Given the description of an element on the screen output the (x, y) to click on. 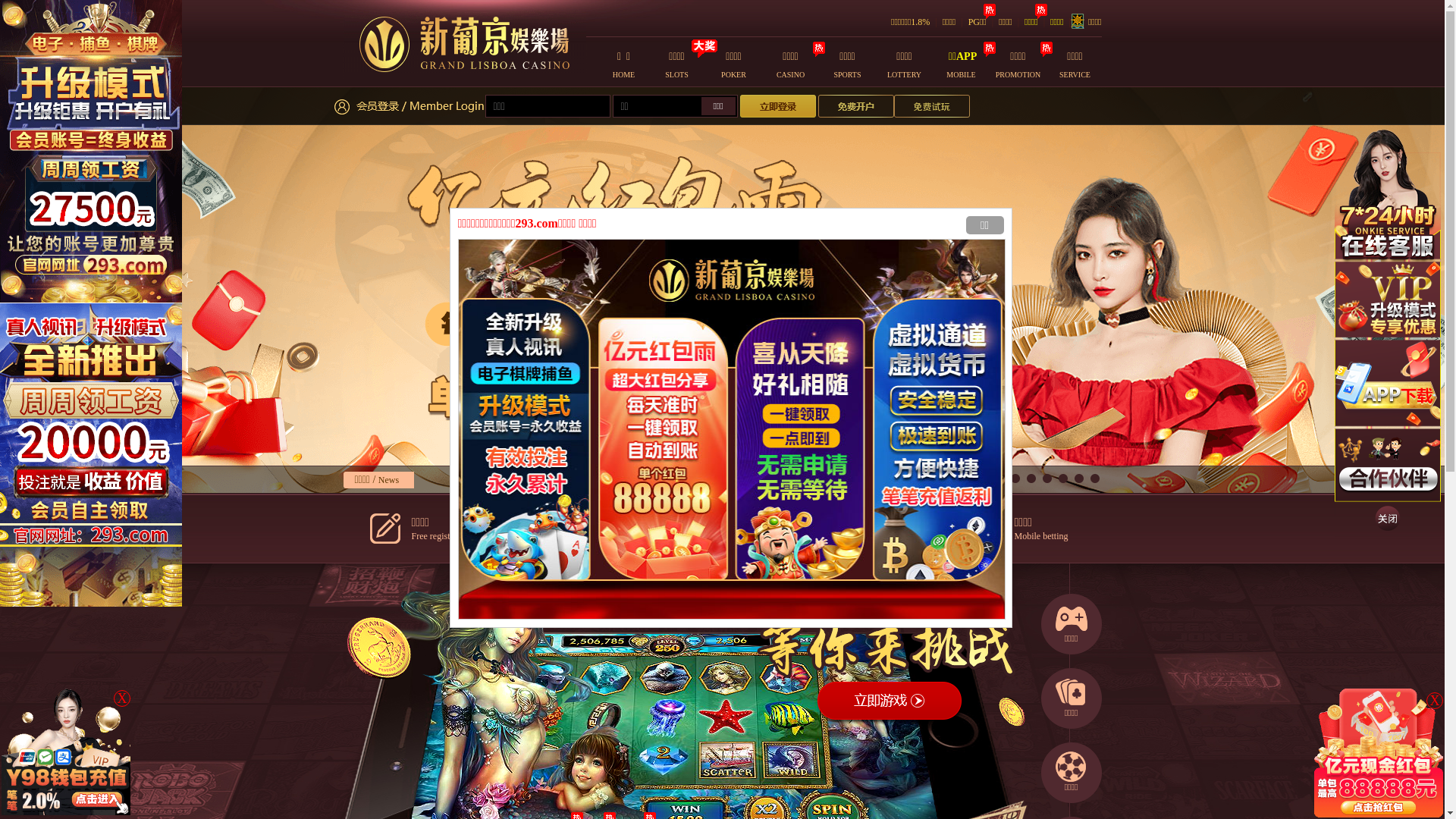
X Element type: text (121, 698)
X Element type: text (1434, 700)
